Given the description of an element on the screen output the (x, y) to click on. 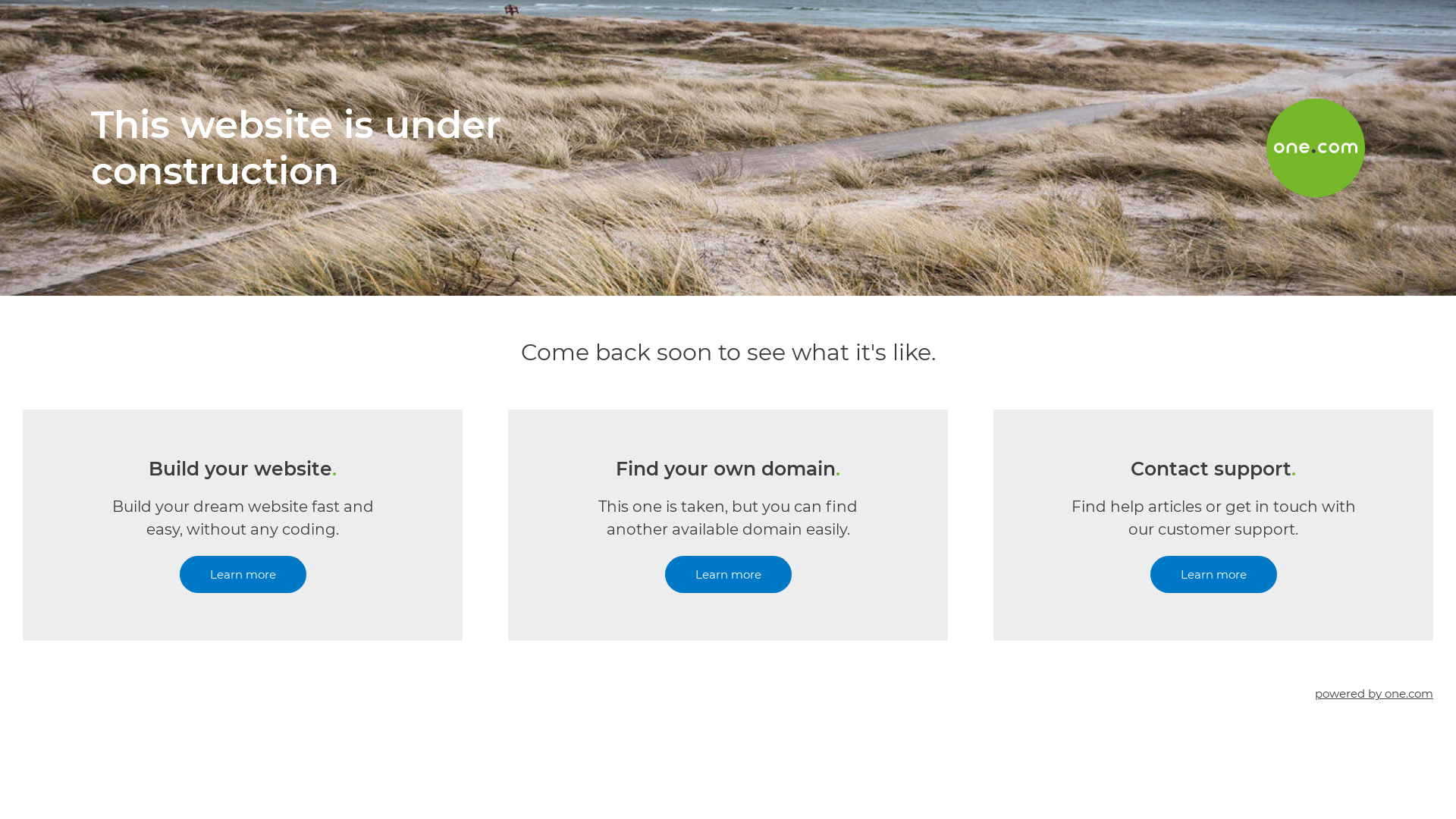
Learn more Element type: text (1212, 574)
Learn more Element type: text (241, 574)
powered by one.com Element type: text (1373, 693)
Learn more Element type: text (727, 574)
